Given the description of an element on the screen output the (x, y) to click on. 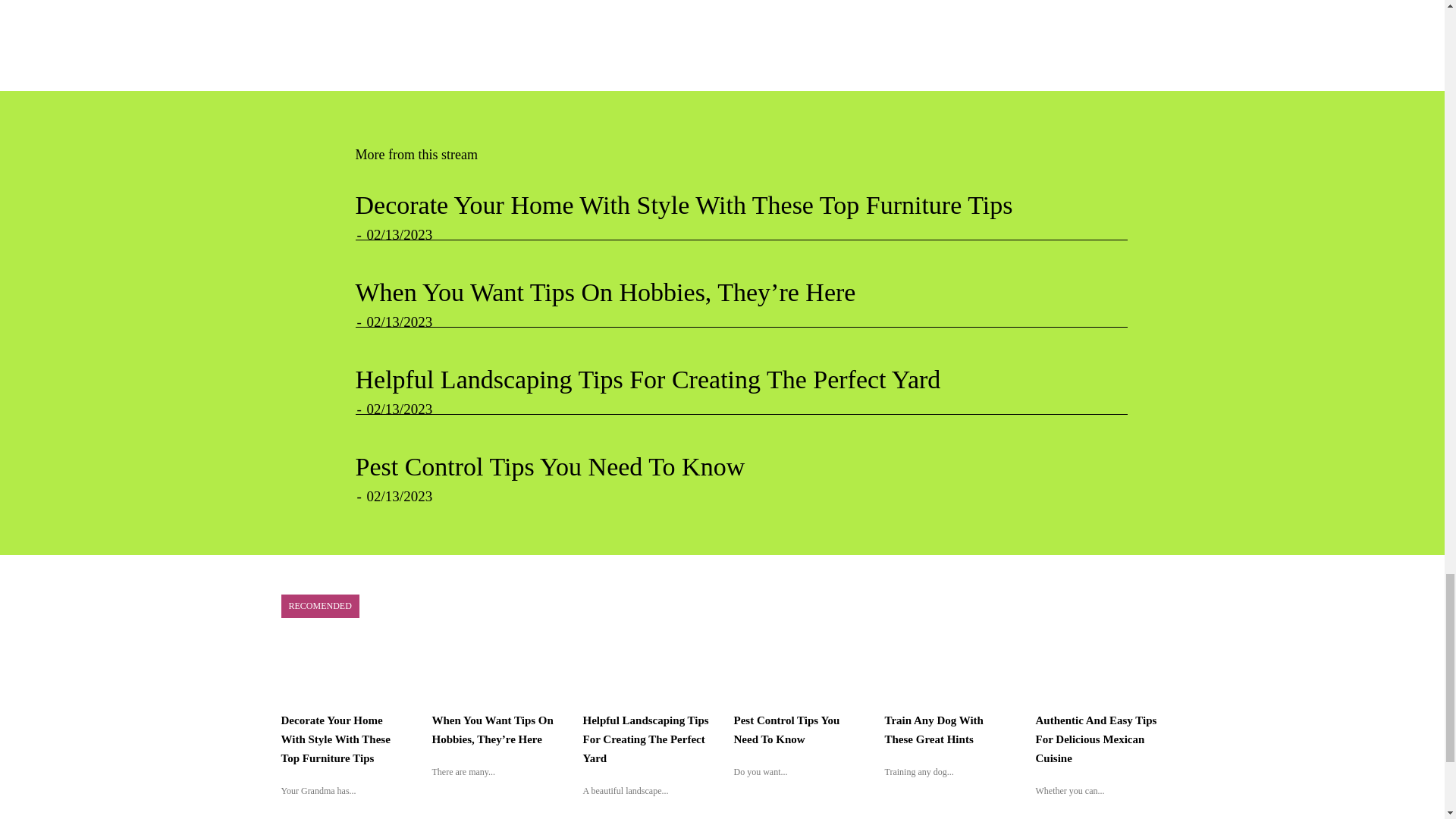
Decorate Your Home With Style With These Top Furniture Tips (683, 204)
Helpful Landscaping Tips For Creating The Perfect Yard (647, 379)
Pest Control Tips You Need To Know (549, 466)
Decorate Your Home With Style With These Top Furniture Tips (683, 204)
Helpful Landscaping Tips For Creating The Perfect Yard (647, 379)
Decorate Your Home With Style With These Top Furniture Tips (335, 739)
